Given the description of an element on the screen output the (x, y) to click on. 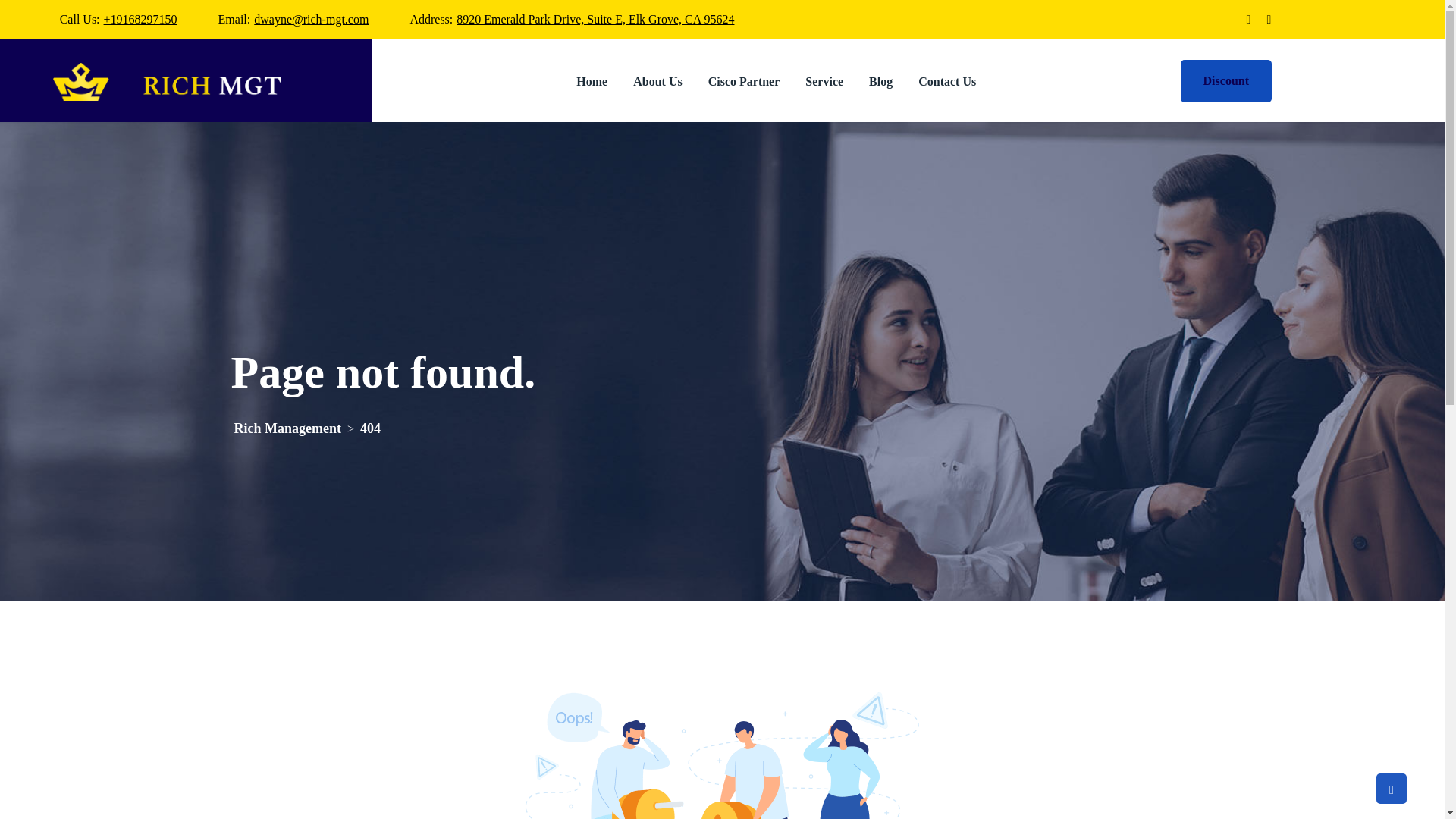
Rich Management (286, 427)
Contact Us (947, 80)
404 (369, 427)
8920 Emerald Park Drive, Suite E, Elk Grove, CA 95624 (595, 19)
Cisco Partner (744, 80)
About Us (657, 80)
Go to Rich Management. (286, 427)
Go to 404. (369, 427)
Rich Management Logo (166, 81)
Discount (1225, 80)
